Given the description of an element on the screen output the (x, y) to click on. 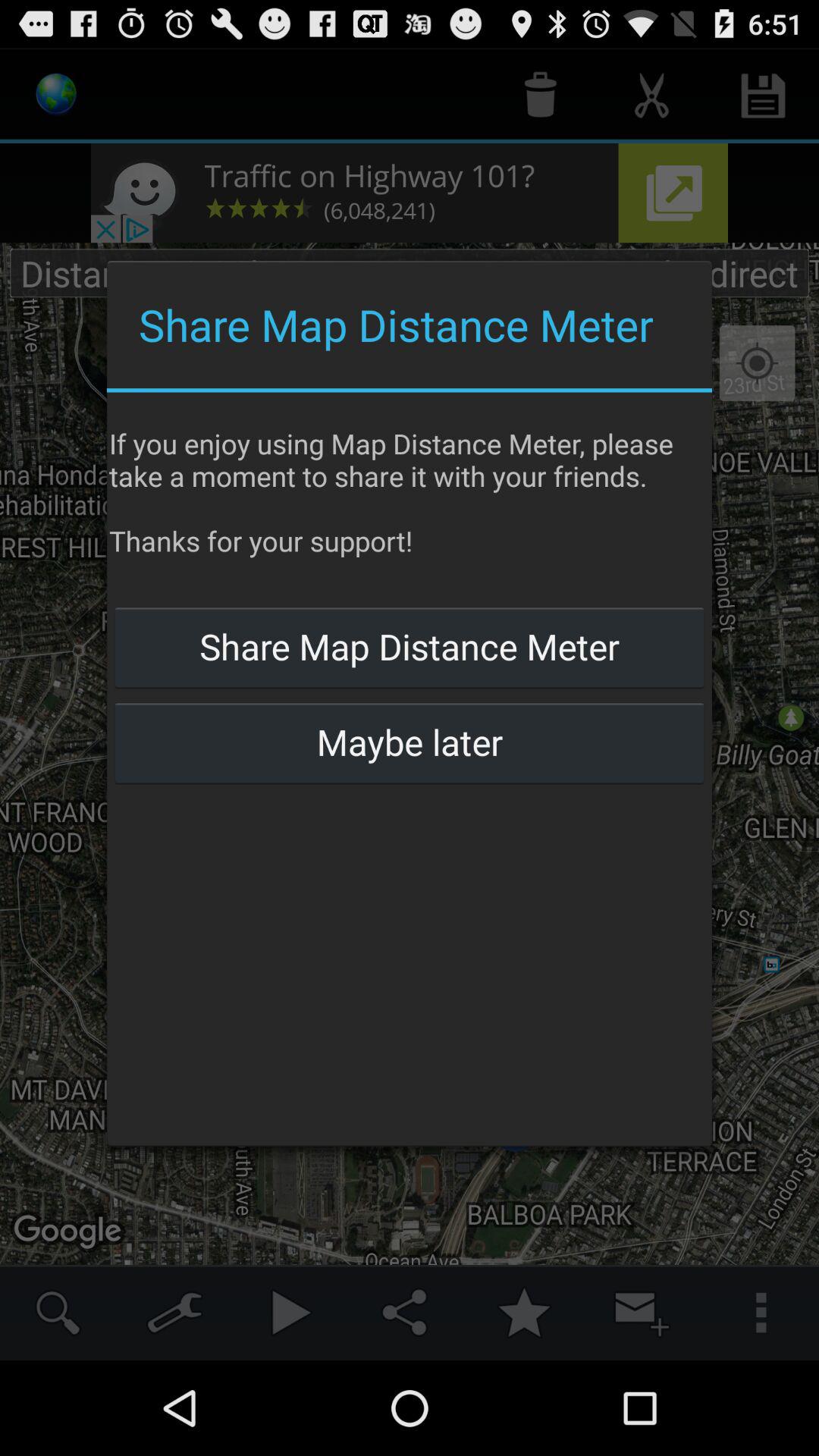
flip to the maybe later item (409, 741)
